Given the description of an element on the screen output the (x, y) to click on. 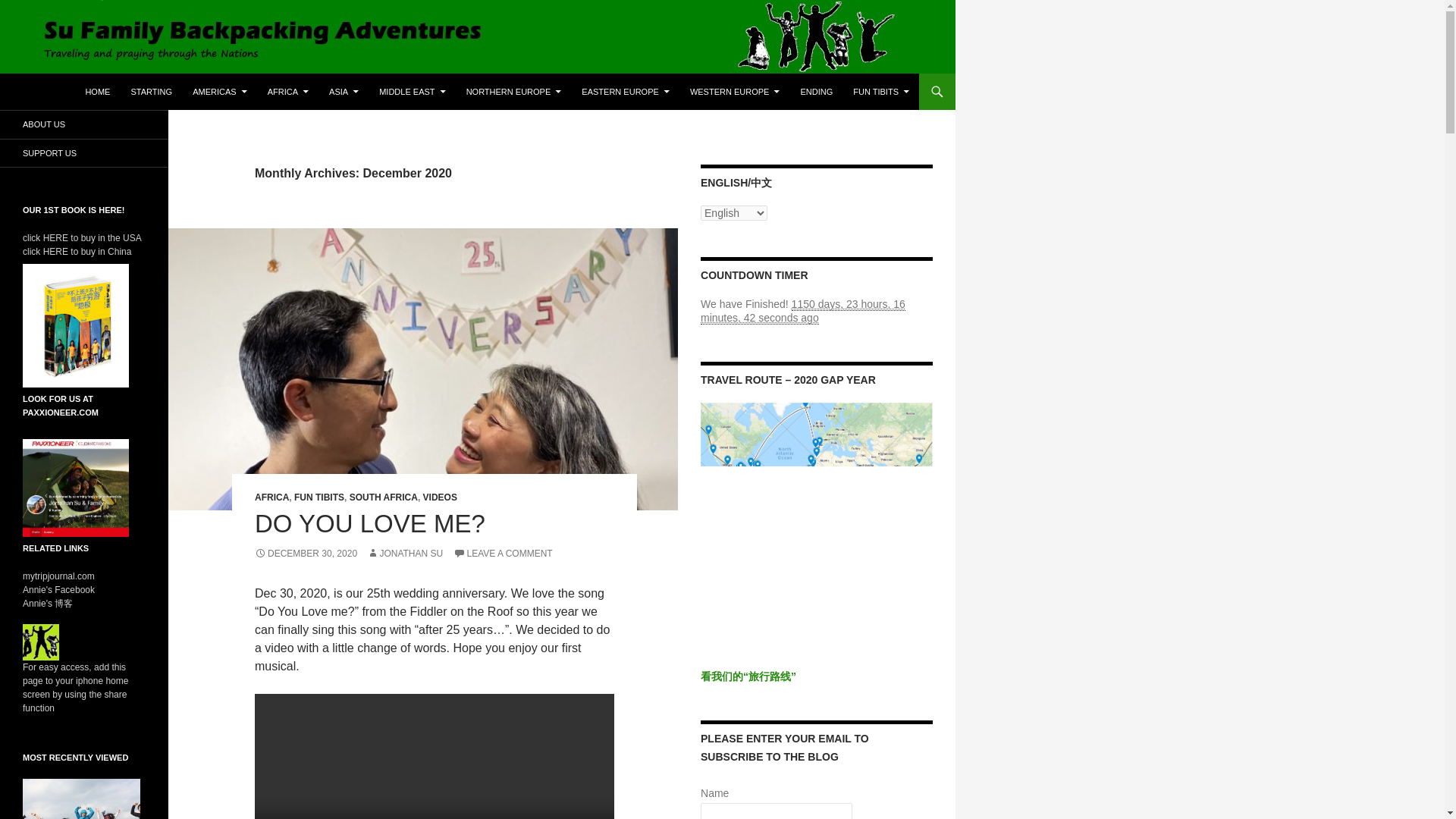
EASTERN EUROPE (625, 91)
AFRICA (288, 91)
MIDDLE EAST (411, 91)
STARTING (150, 91)
HOME (97, 91)
ASIA (344, 91)
AMERICAS (219, 91)
NORTHERN EUROPE (513, 91)
